Given the description of an element on the screen output the (x, y) to click on. 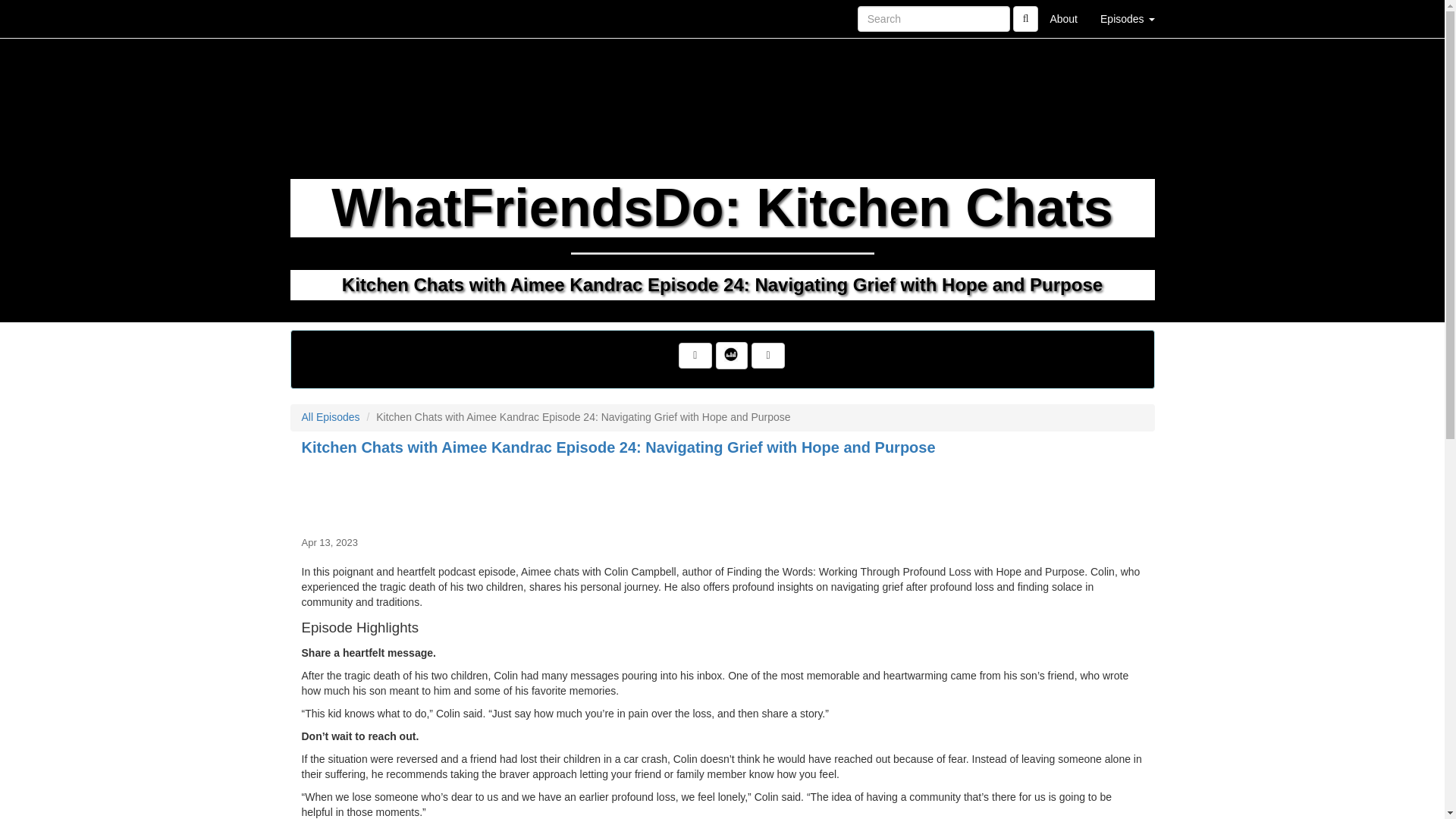
Episodes (1127, 18)
Home Page (320, 18)
All Episodes (330, 417)
About (1063, 18)
